Given the description of an element on the screen output the (x, y) to click on. 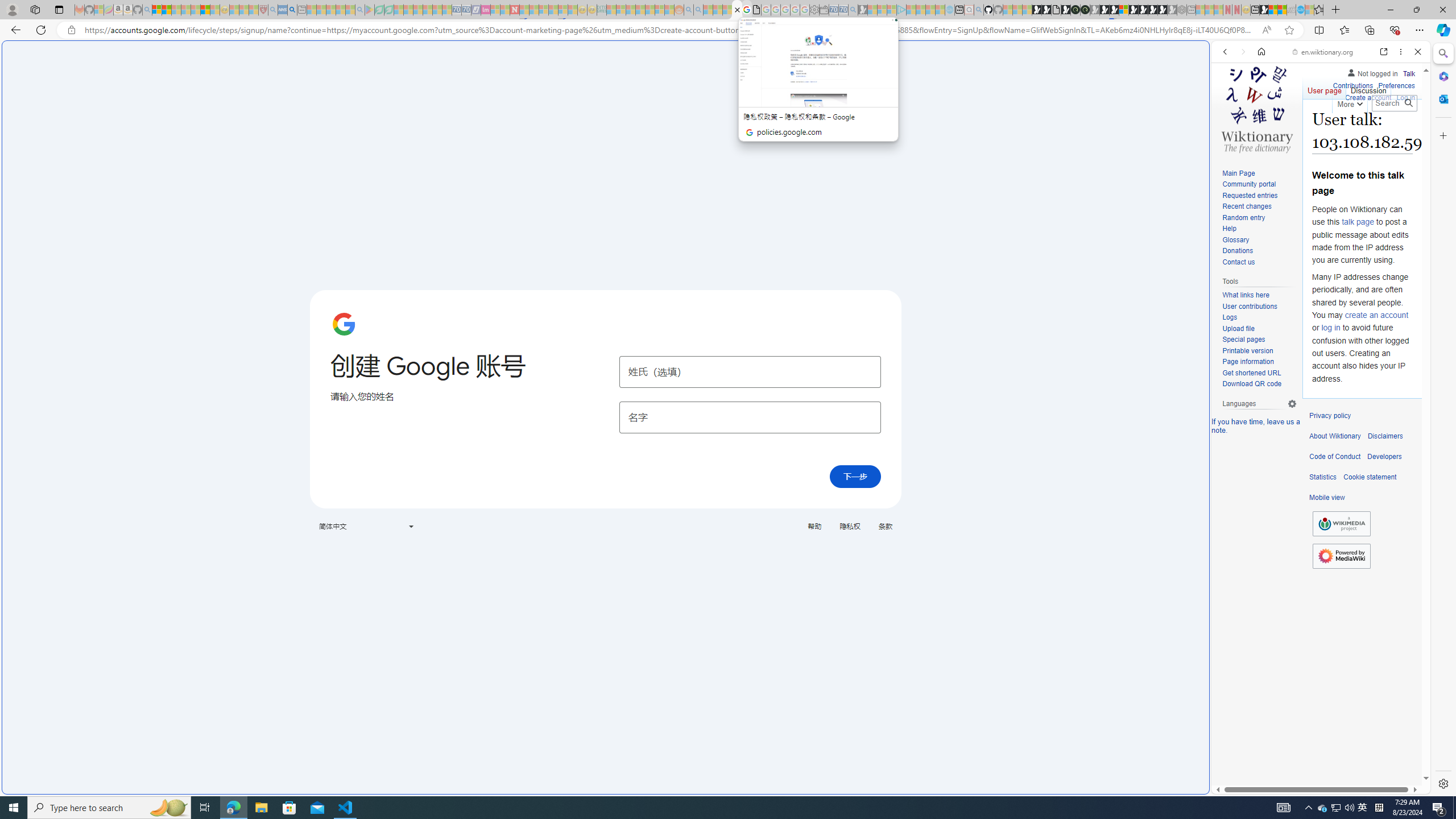
Pets - MSN - Sleeping (340, 9)
Special pages (1243, 339)
Jobs - lastminute.com Investor Portal - Sleeping (485, 9)
Expert Portfolios - Sleeping (639, 9)
Privacy policy (1329, 415)
